Given the description of an element on the screen output the (x, y) to click on. 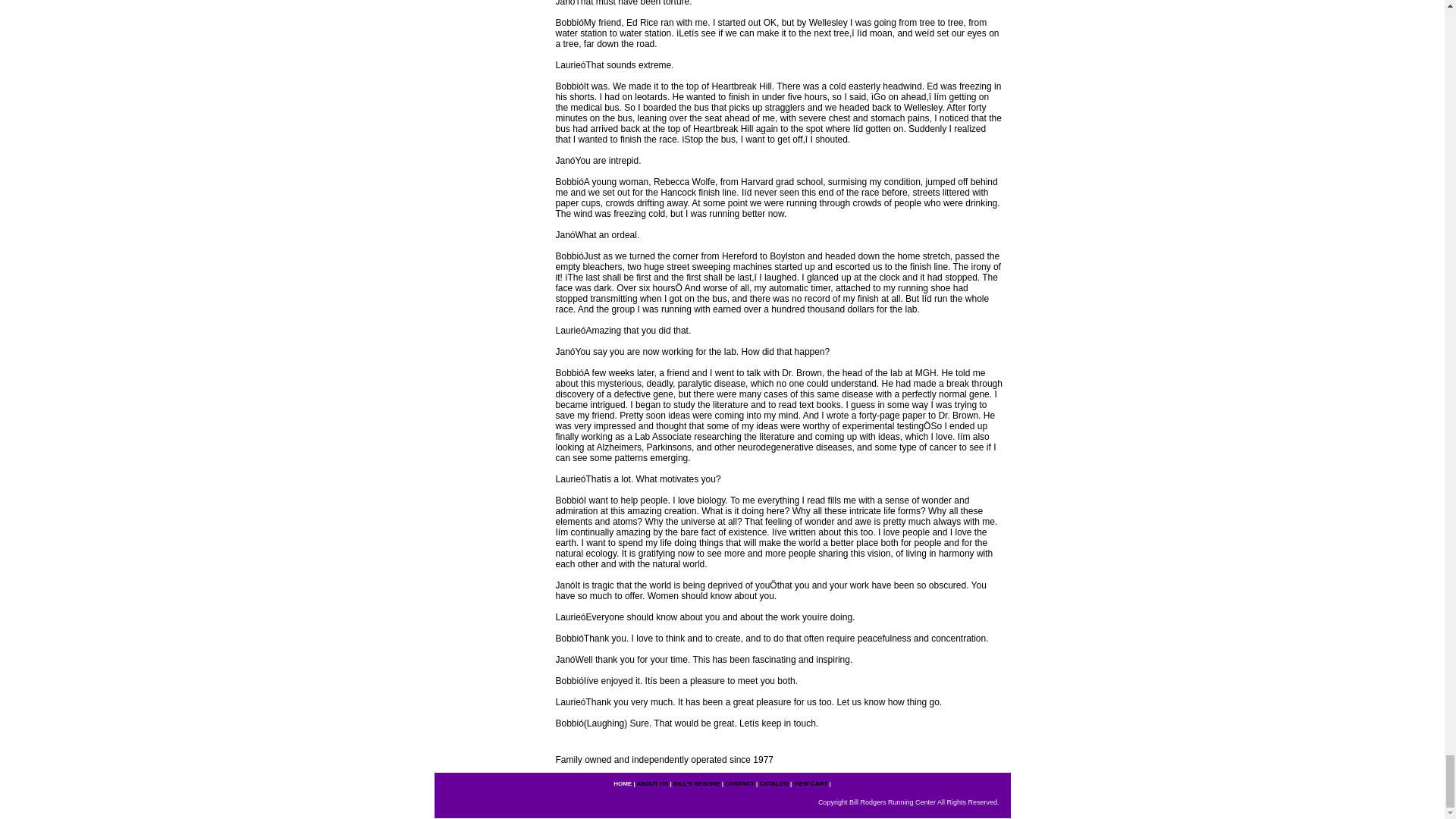
BILL'S RESUME (695, 783)
CATALOG (772, 783)
HOME (621, 783)
ABOUT US (652, 783)
VIEW CART (810, 783)
CONTACT (739, 783)
